Given the description of an element on the screen output the (x, y) to click on. 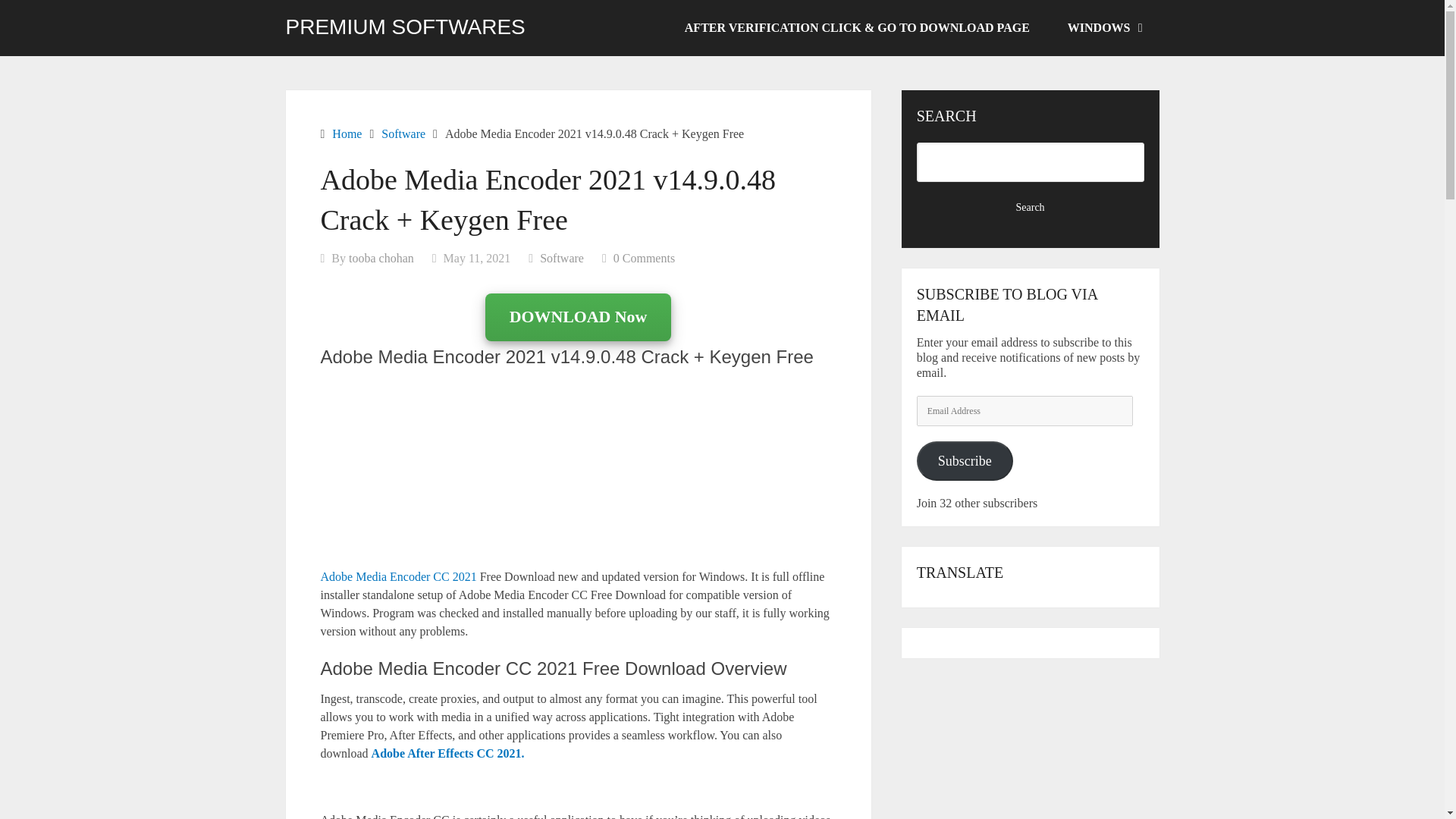
Home (346, 133)
WINDOWS (1103, 28)
DOWNLOAD Now (577, 318)
Adobe Media Encoder CC 2021 (398, 576)
tooba chohan (381, 257)
Posts by tooba chohan (381, 257)
Software (561, 257)
DOWNLOAD Now (577, 317)
PREMIUM SOFTWARES (404, 26)
0 Comments (643, 257)
